Given the description of an element on the screen output the (x, y) to click on. 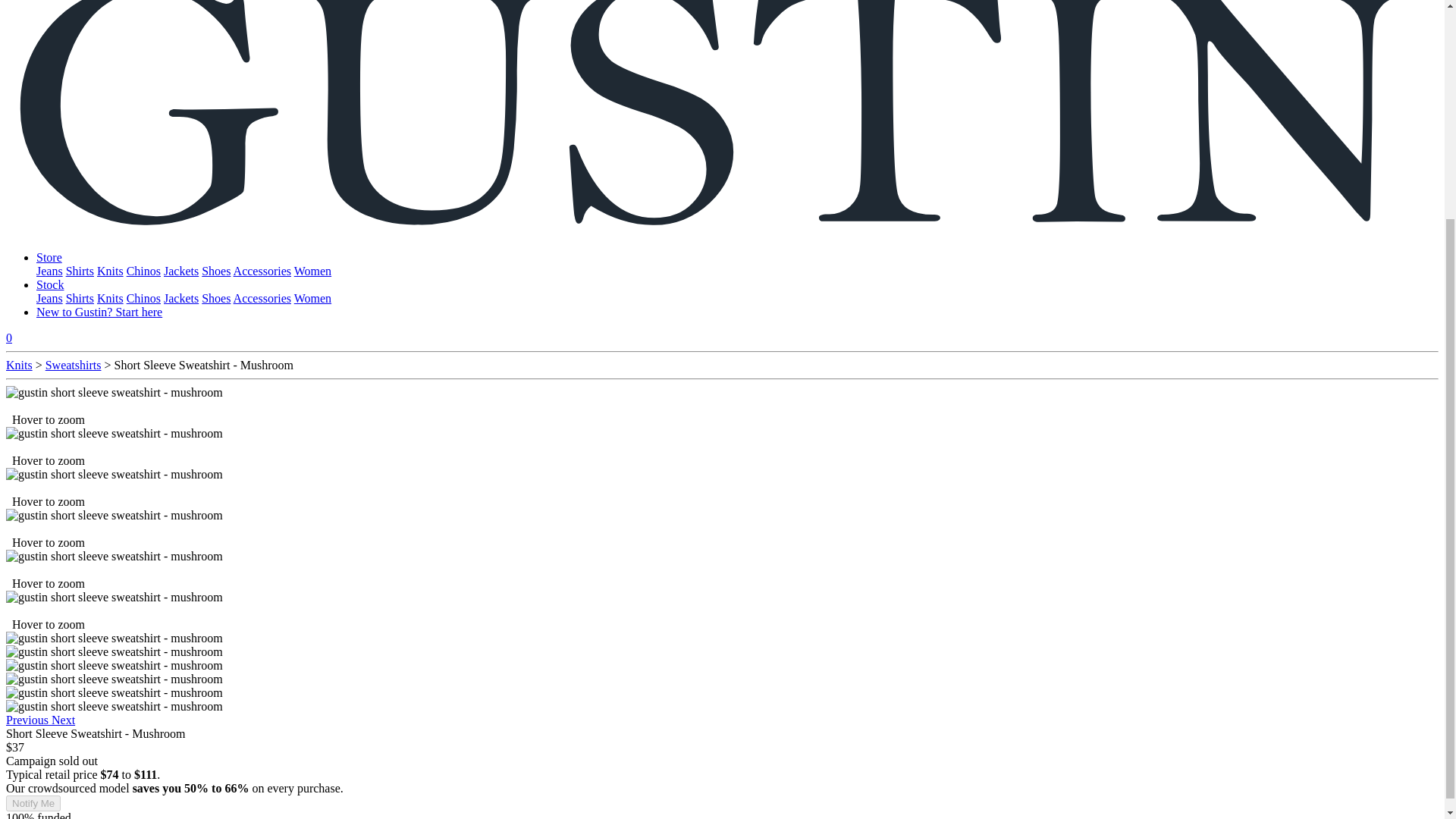
Accessories (261, 270)
Jackets (180, 270)
Knits (110, 297)
Accessories (261, 297)
Jackets (180, 297)
Women (312, 270)
New to Gustin? Start here (98, 311)
Stock (50, 284)
Shirts (79, 270)
Store (49, 256)
Chinos (143, 297)
Shirts (79, 297)
Shoes (216, 297)
Shoes (216, 270)
Knits (110, 270)
